Given the description of an element on the screen output the (x, y) to click on. 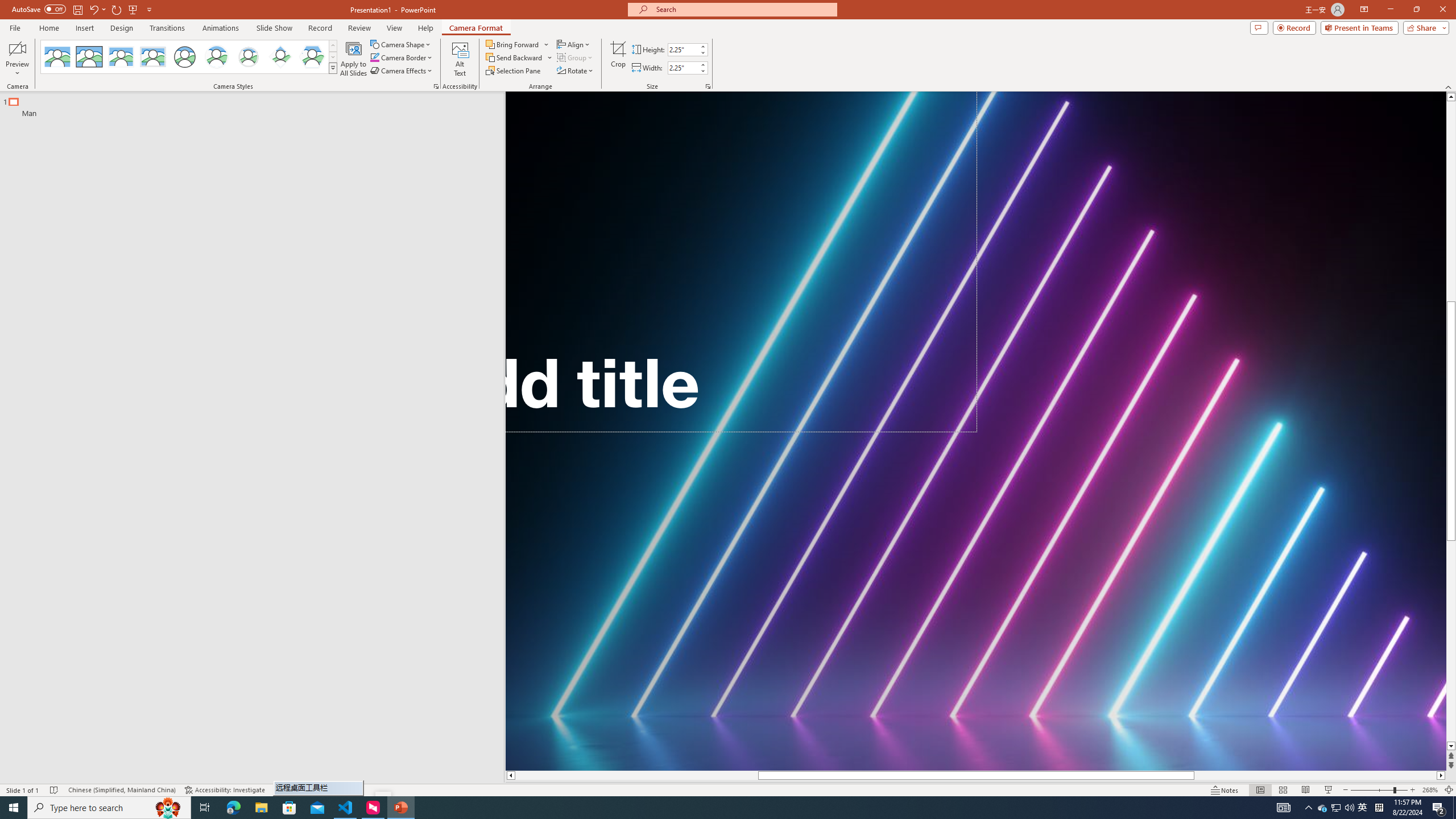
Zoom 268% (1430, 790)
Camera Border Blue, Accent 1 (374, 56)
Simple Frame Circle (184, 56)
Enable Camera Preview (17, 48)
Align (574, 44)
Camera Border (401, 56)
